Given the description of an element on the screen output the (x, y) to click on. 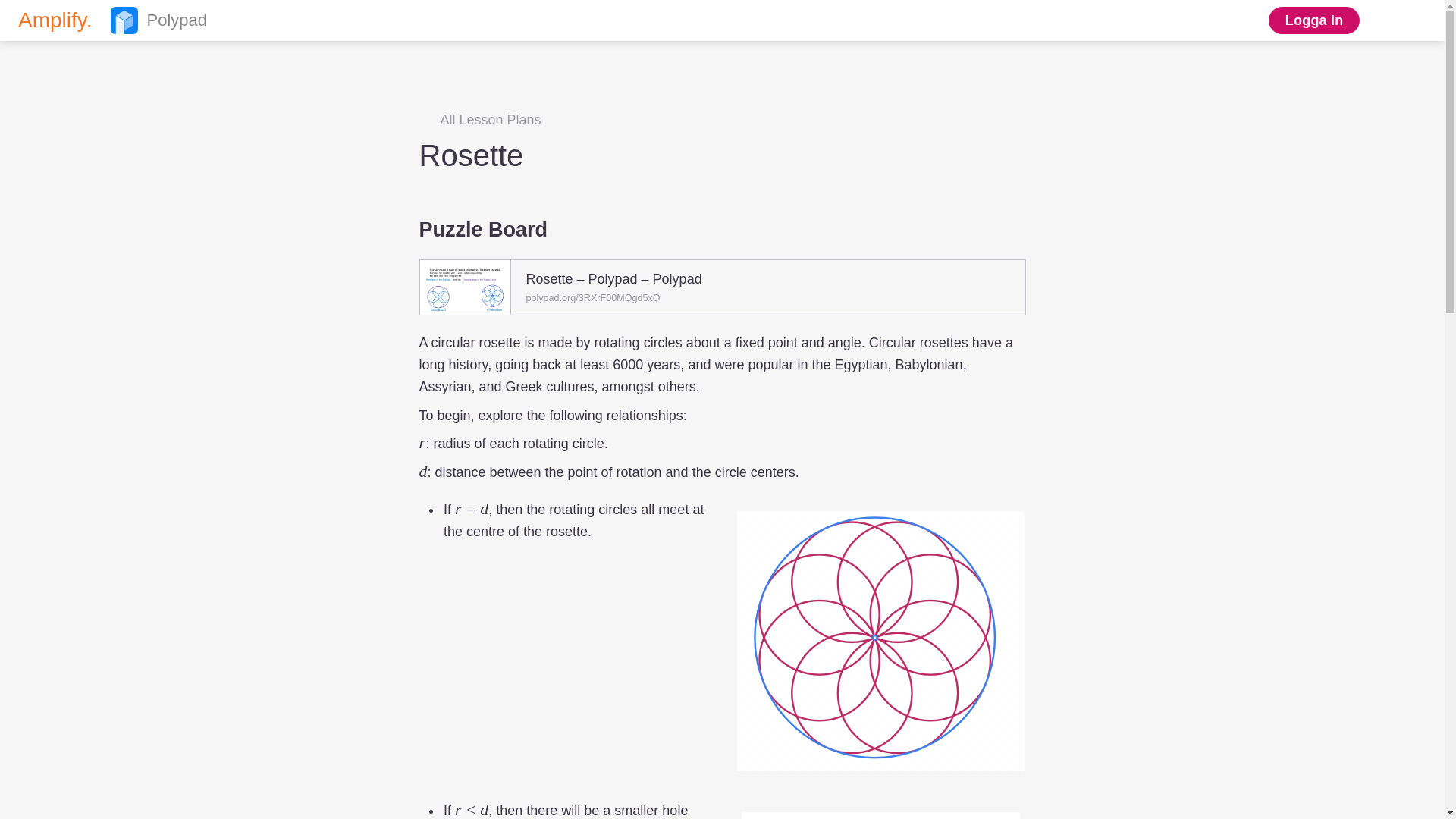
Hem (106, 20)
Logga in (106, 20)
